Given the description of an element on the screen output the (x, y) to click on. 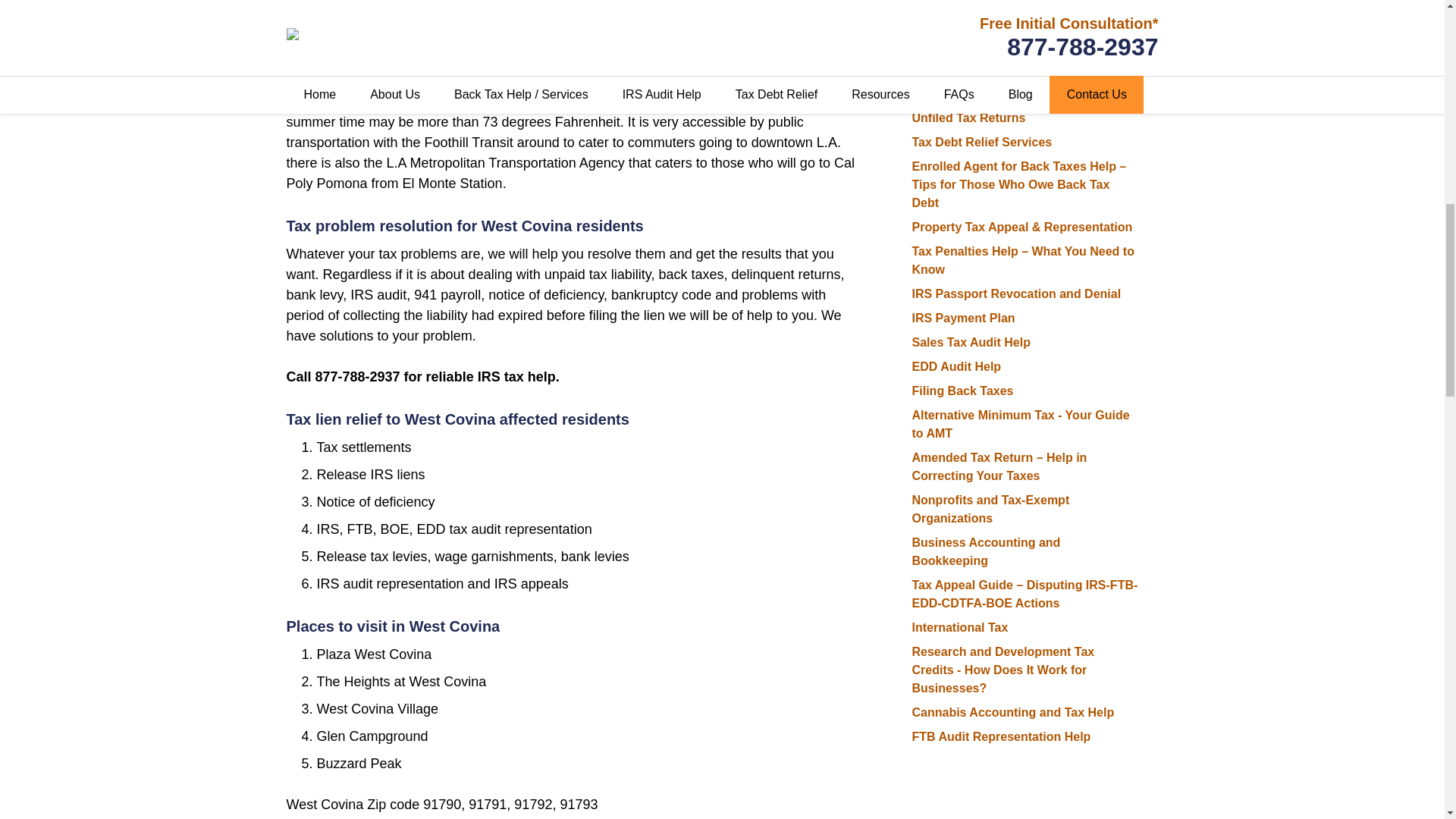
Tax Debt Relief Services (981, 141)
Filing Back Taxes (962, 390)
IRS Payment Plan (962, 318)
Alternative Minimum Tax - Your Guide to AMT (1020, 423)
Sales Tax Audit Help (970, 341)
IRS Tax Help (948, 92)
Unfiled Tax Returns (968, 117)
IRS Passport Revocation and Denial (1016, 293)
EDD Audit Help (956, 366)
Whittier Tax Preparation Service (1004, 69)
When to Call a Tax Relief Service (1005, 44)
